Given the description of an element on the screen output the (x, y) to click on. 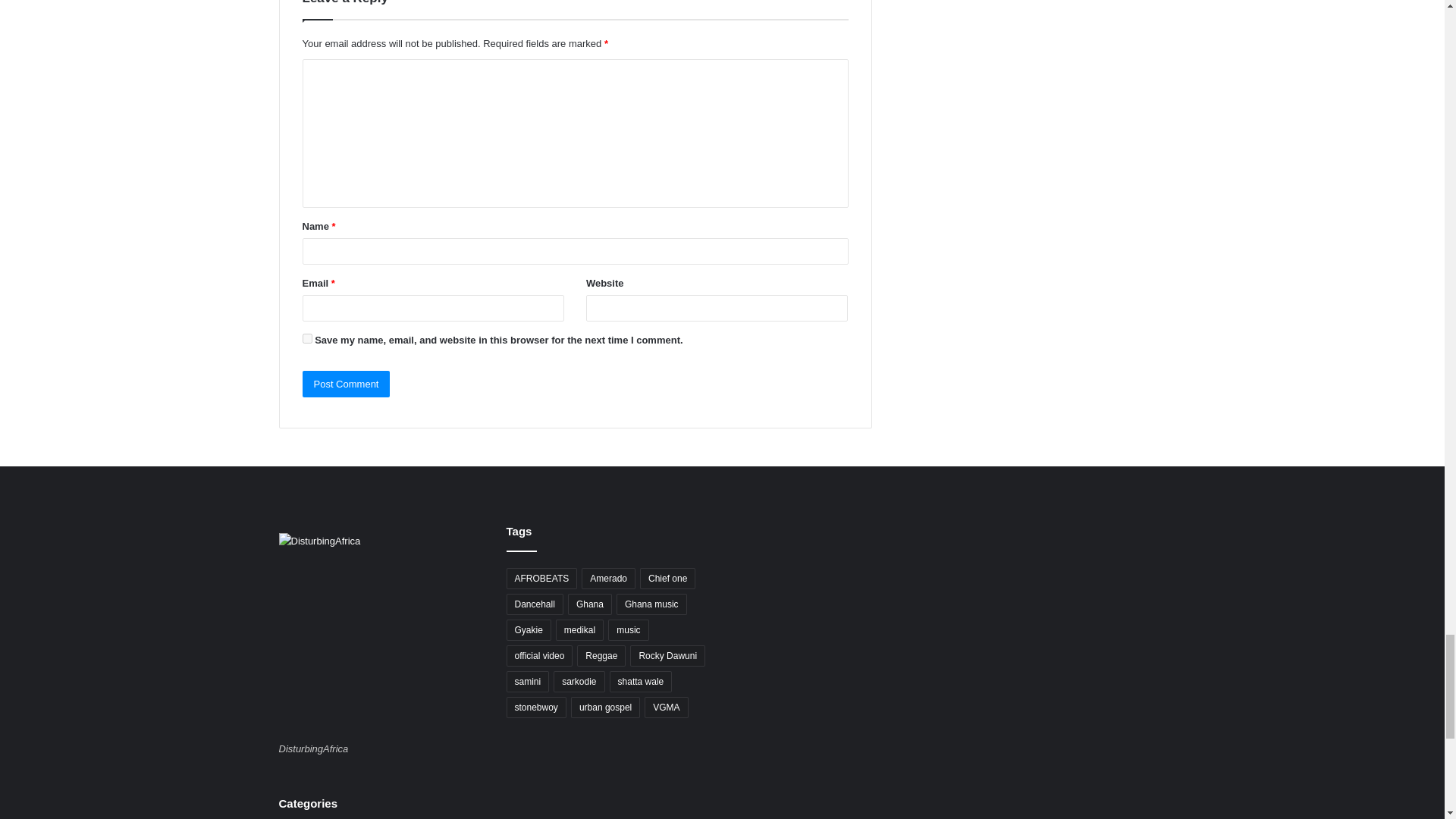
yes (306, 338)
Post Comment (345, 384)
